Given the description of an element on the screen output the (x, y) to click on. 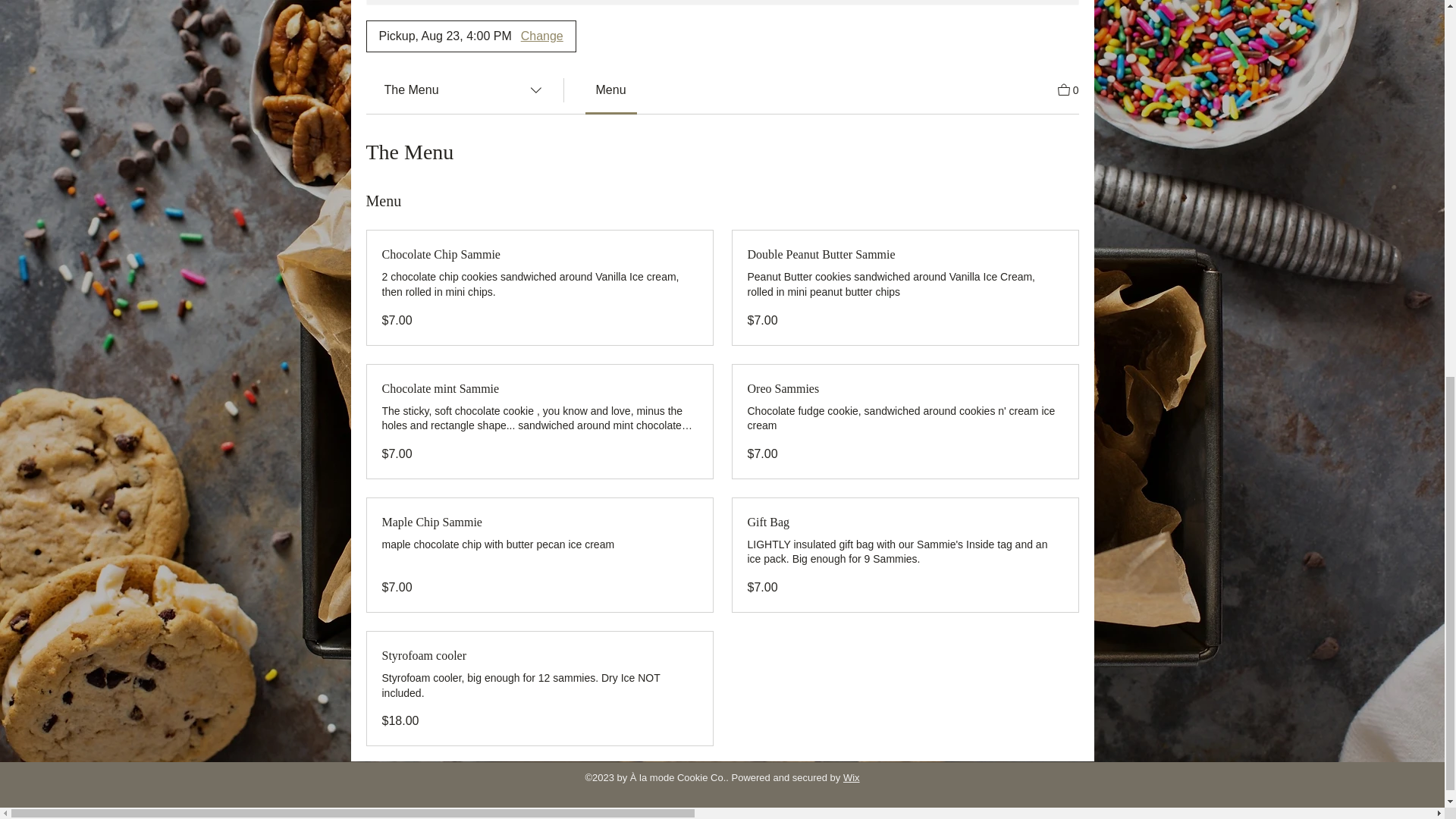
Gift Bag (905, 522)
Maple Chip Sammie (539, 522)
Change (542, 36)
Oreo Sammies (905, 389)
Styrofoam cooler (539, 656)
Chocolate Chip Sammie (539, 254)
The Menu (463, 90)
Chocolate mint Sammie (539, 389)
Double Peanut Butter Sammie (905, 254)
Wix (851, 777)
